Given the description of an element on the screen output the (x, y) to click on. 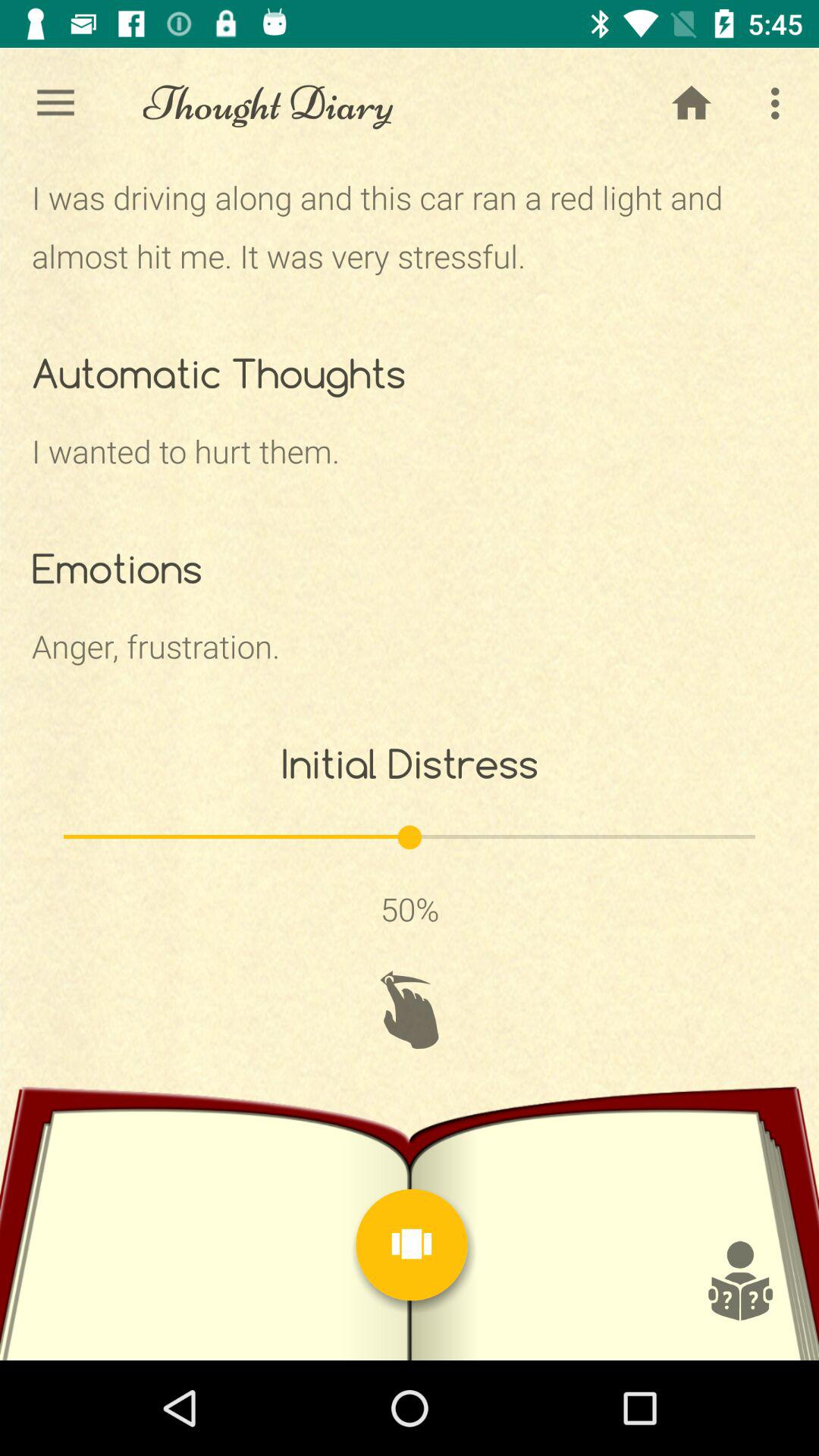
help icon (739, 1280)
